Given the description of an element on the screen output the (x, y) to click on. 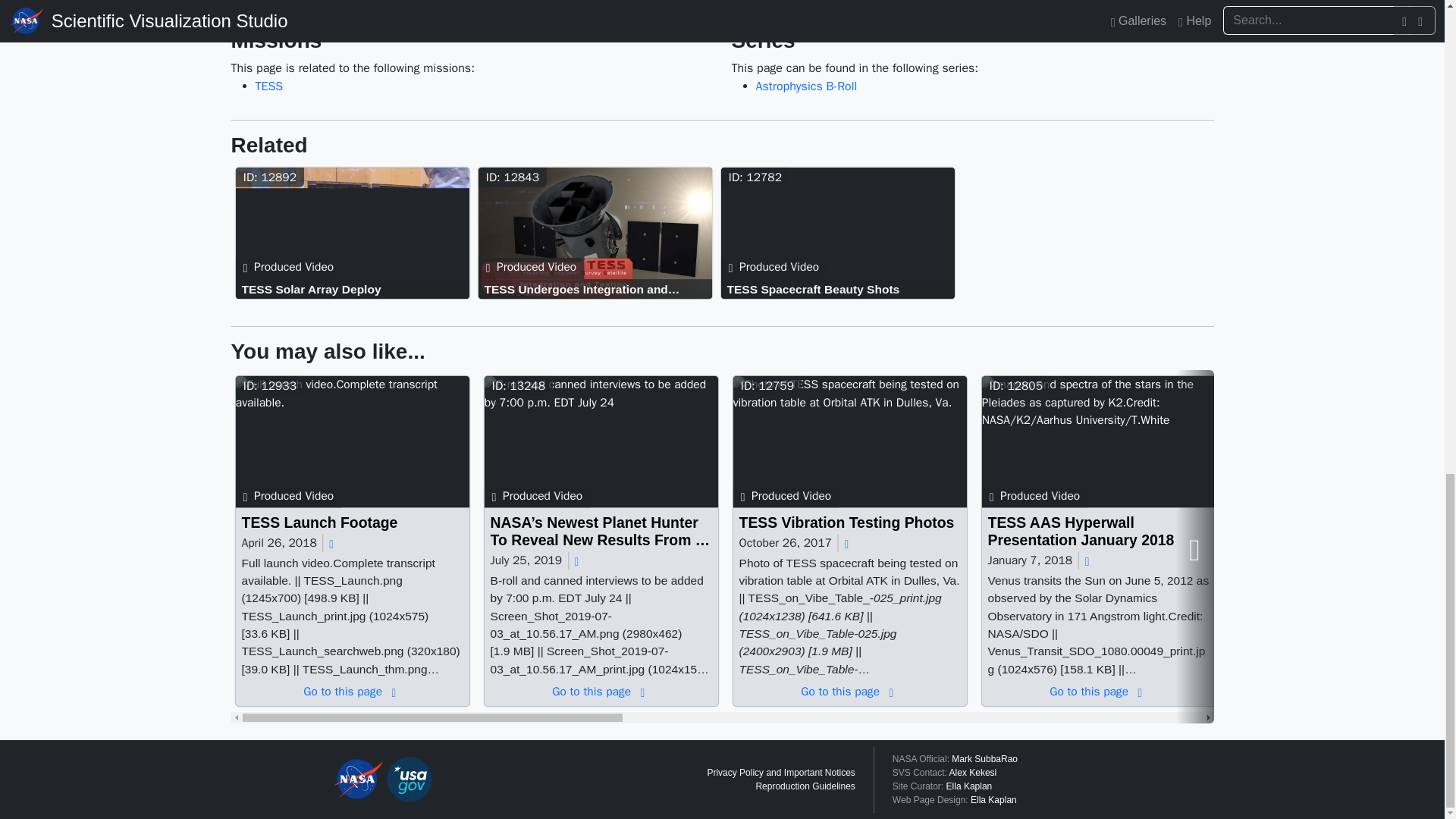
Go to this page (355, 522)
Astrophysics B-Roll (806, 86)
Go to this page (355, 234)
Go to this page (840, 288)
Go to this page (840, 234)
Go to this page (604, 531)
Go to this page (604, 443)
TESS (268, 86)
Go to this page (355, 691)
Go to this page (355, 443)
